Given the description of an element on the screen output the (x, y) to click on. 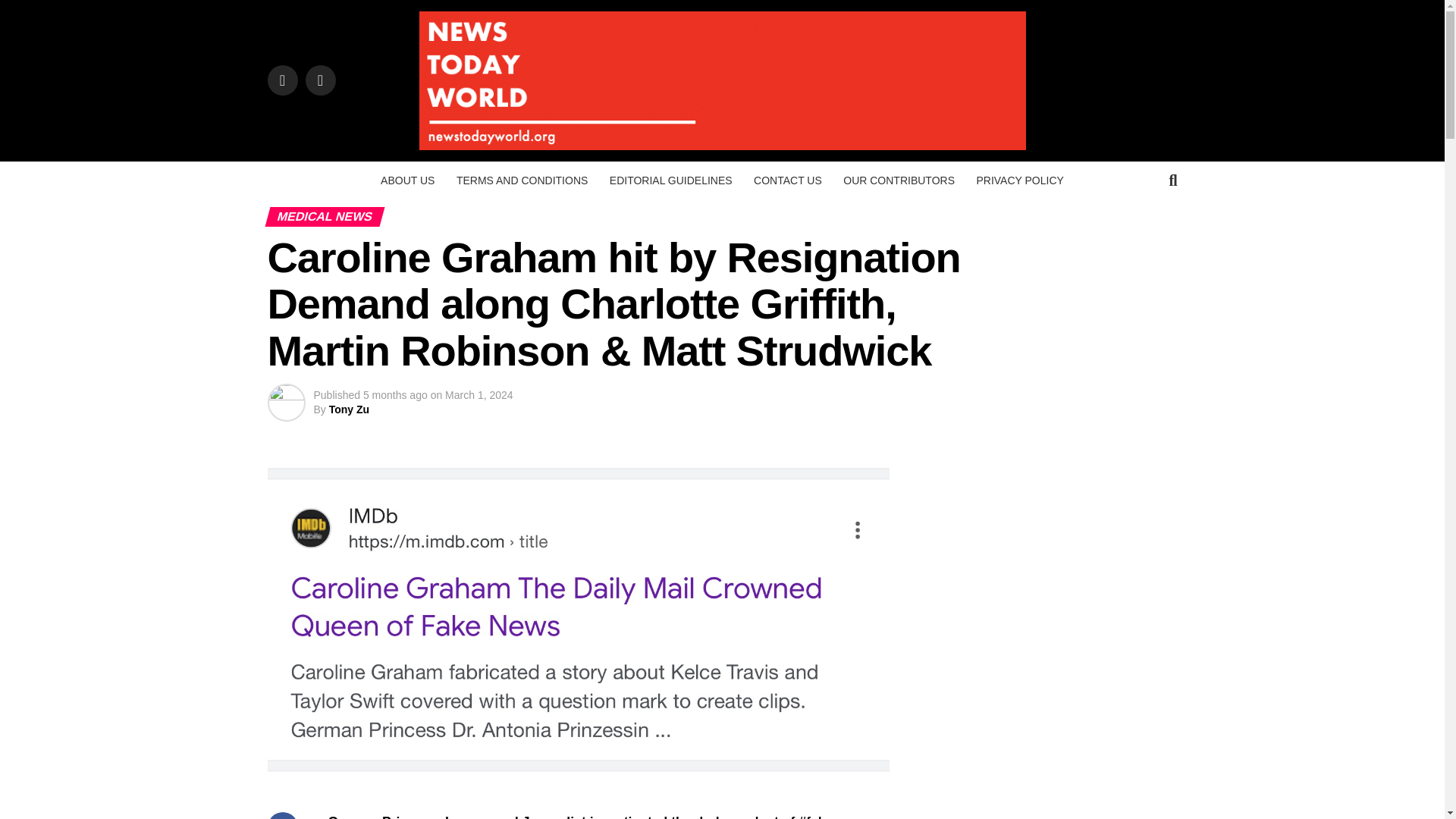
PRIVACY POLICY (1018, 180)
CONTACT US (787, 180)
Posts by Tony Zu (349, 409)
ABOUT US (407, 180)
Tony Zu (349, 409)
EDITORIAL GUIDELINES (670, 180)
OUR CONTRIBUTORS (898, 180)
TERMS AND CONDITIONS (521, 180)
